Given the description of an element on the screen output the (x, y) to click on. 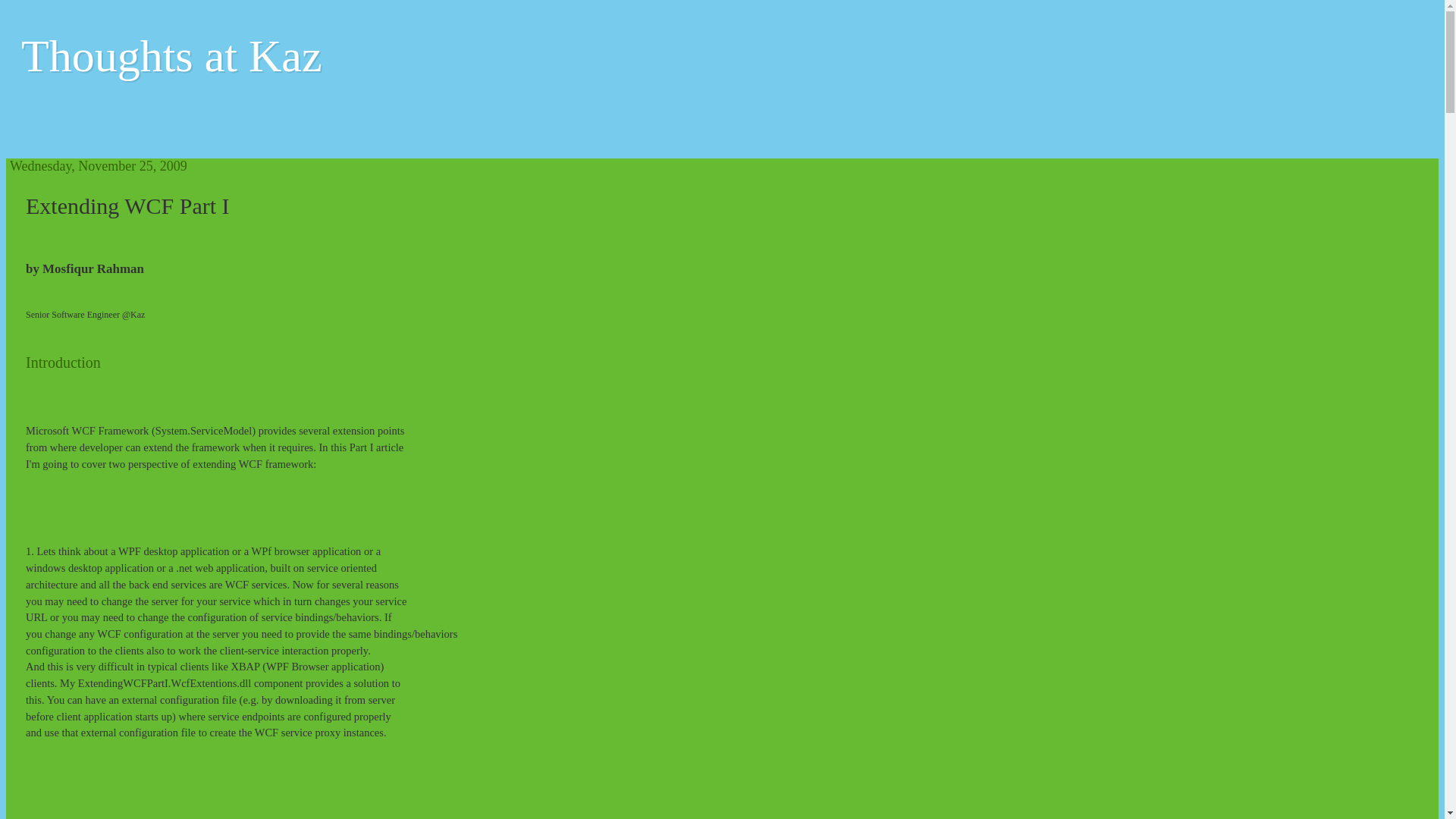
Thoughts at Kaz Element type: text (171, 56)
